Given the description of an element on the screen output the (x, y) to click on. 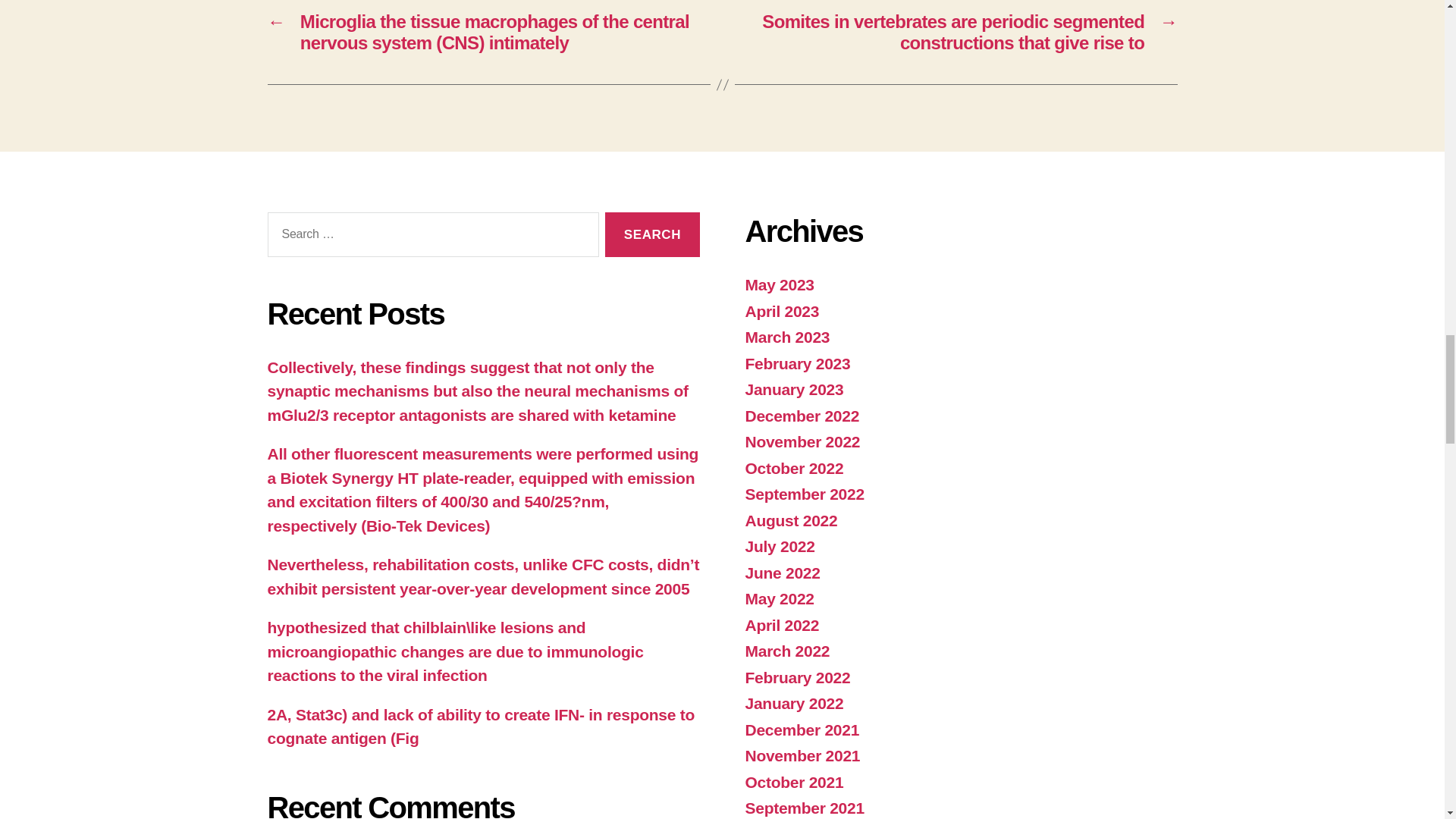
June 2022 (781, 572)
January 2023 (793, 389)
April 2022 (781, 624)
November 2022 (802, 441)
December 2022 (801, 416)
February 2022 (797, 677)
May 2022 (778, 598)
July 2022 (778, 546)
January 2022 (793, 702)
October 2022 (793, 467)
February 2023 (797, 363)
Search (651, 234)
April 2023 (781, 311)
August 2022 (790, 520)
Search (651, 234)
